Given the description of an element on the screen output the (x, y) to click on. 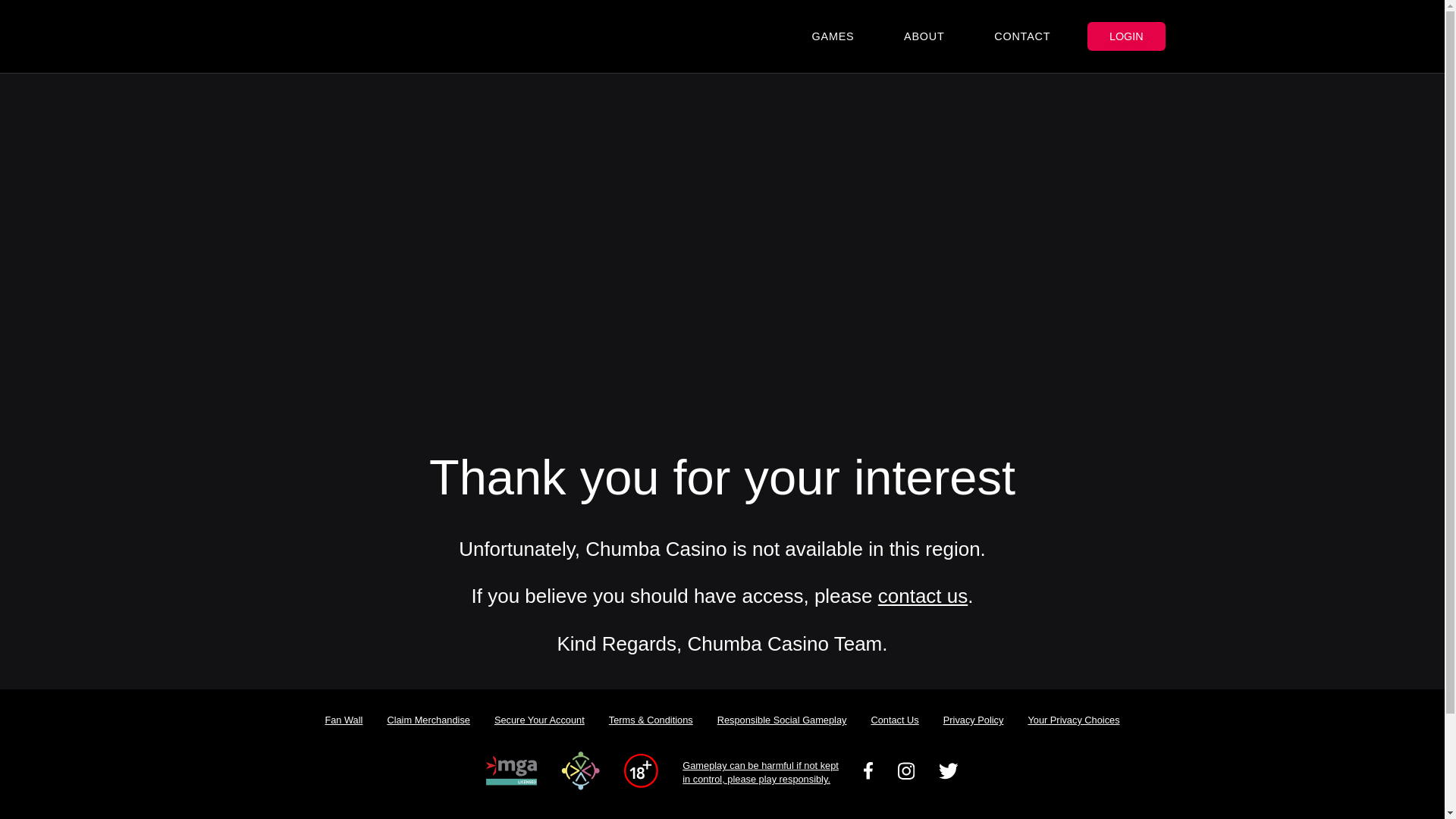
Contact Us (894, 720)
LOGIN (1125, 35)
Responsible Social Gameplay (781, 720)
Claim Merchandise (427, 720)
Fan Wall (343, 720)
Your Privacy Choices (1072, 720)
Privacy Policy (973, 720)
CONTACT (1021, 35)
GAMES (833, 35)
ABOUT (924, 35)
Secure Your Account (538, 720)
contact us (922, 595)
